Given the description of an element on the screen output the (x, y) to click on. 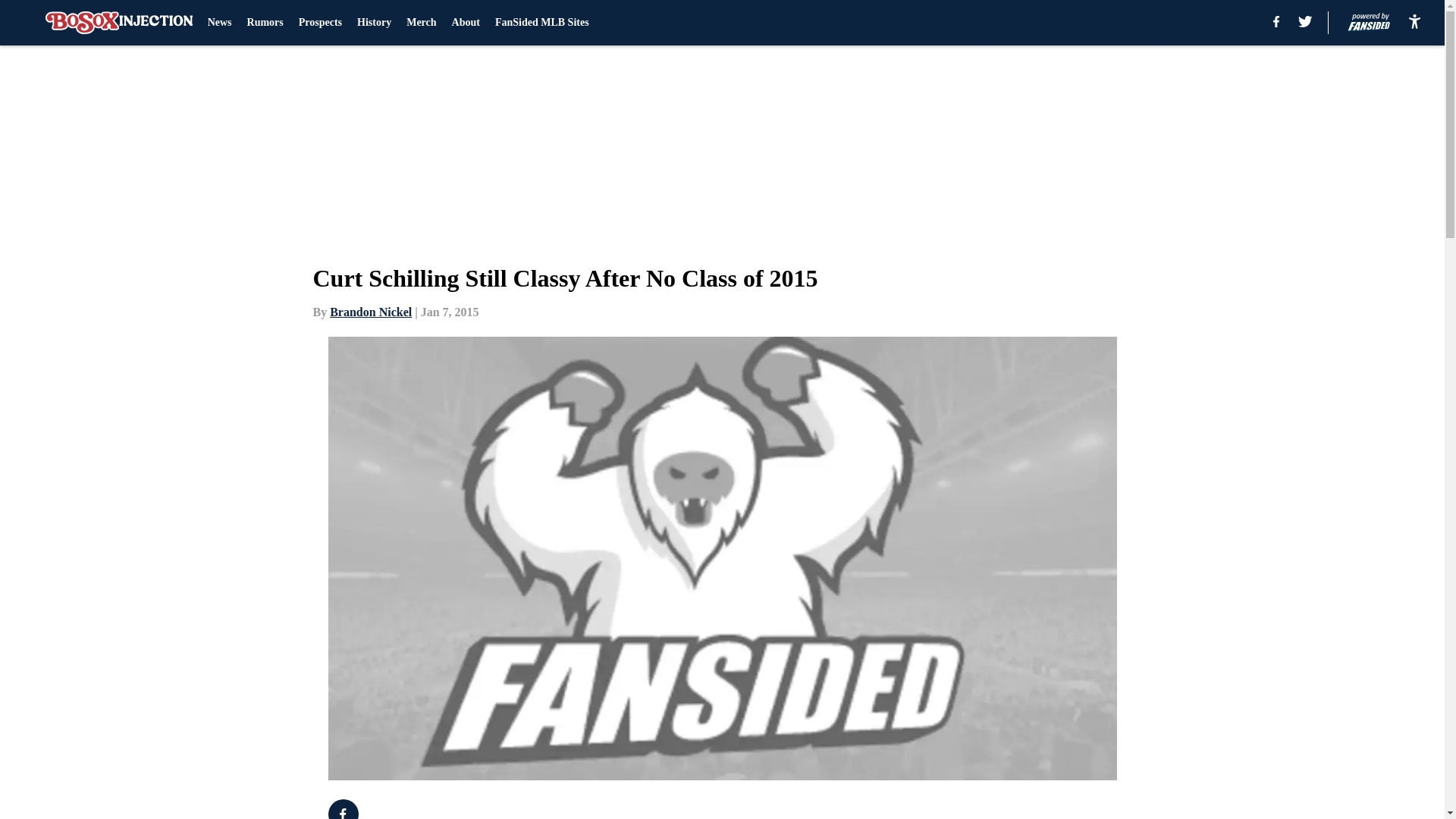
Merch (420, 22)
Prospects (320, 22)
History (373, 22)
News (219, 22)
Brandon Nickel (371, 311)
Rumors (265, 22)
About (465, 22)
FanSided MLB Sites (542, 22)
